Given the description of an element on the screen output the (x, y) to click on. 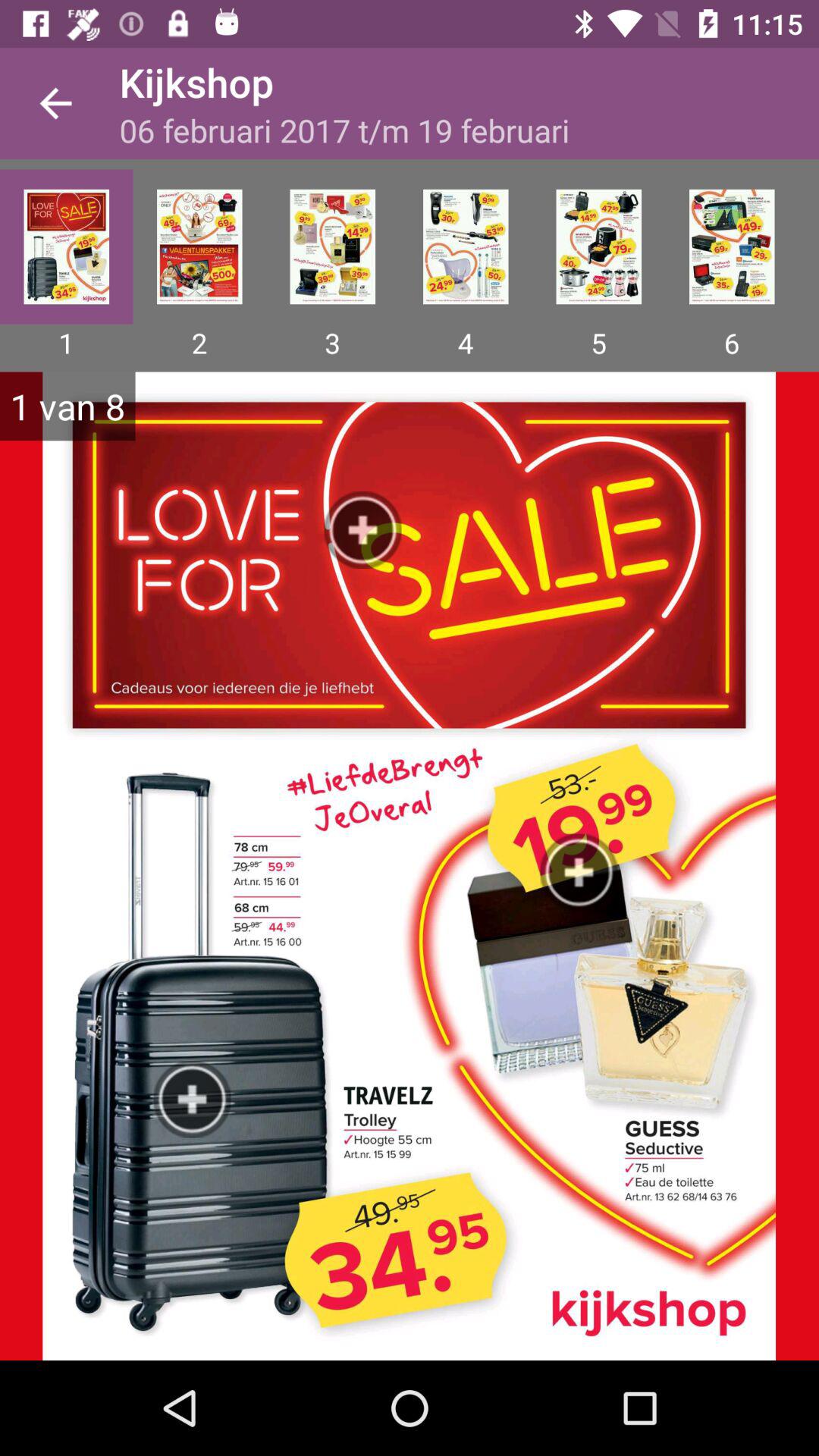
turn on item below 1 item (409, 865)
